Given the description of an element on the screen output the (x, y) to click on. 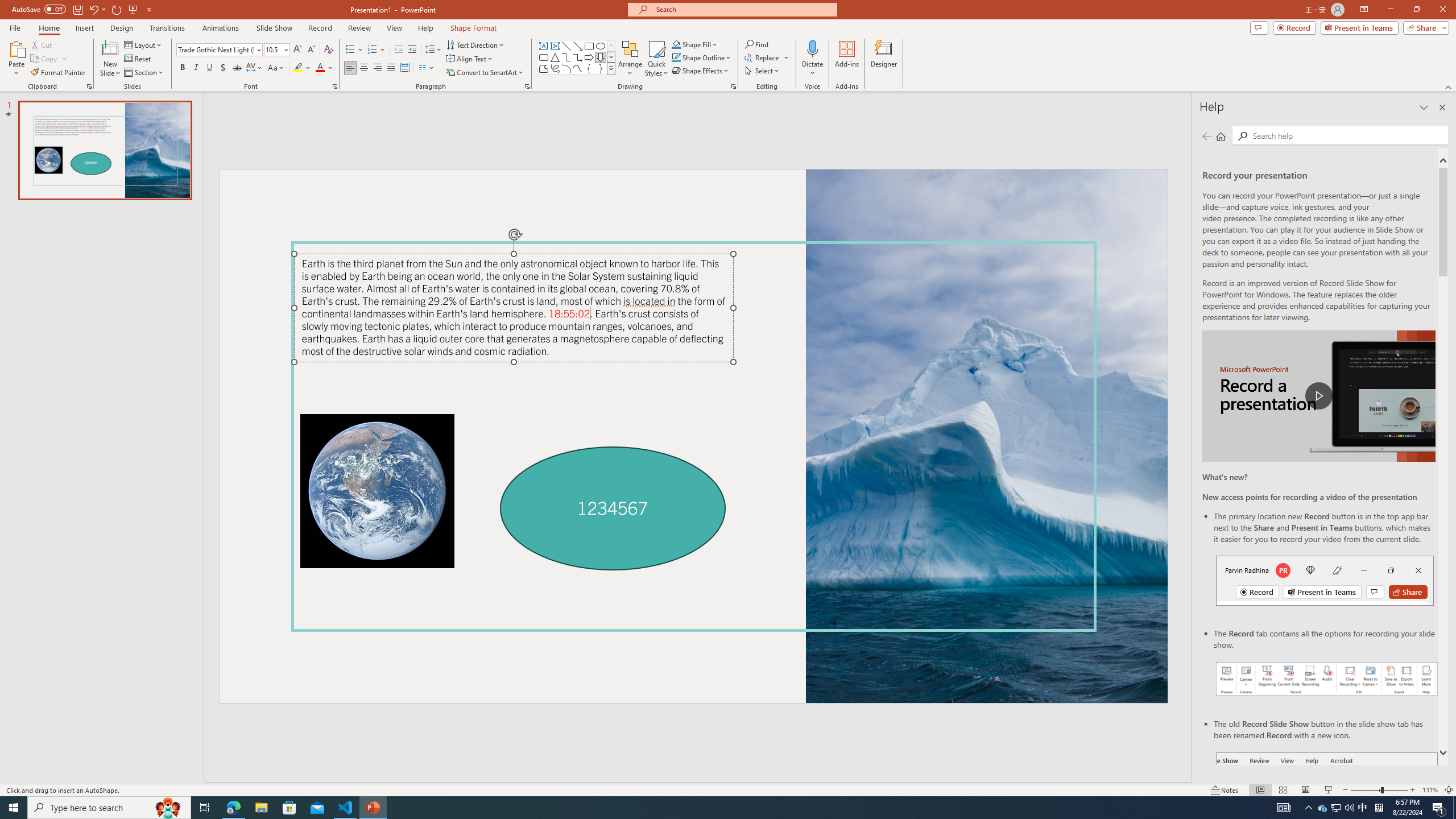
Zoom 131% (1430, 790)
play Record a Presentation (1318, 395)
